Given the description of an element on the screen output the (x, y) to click on. 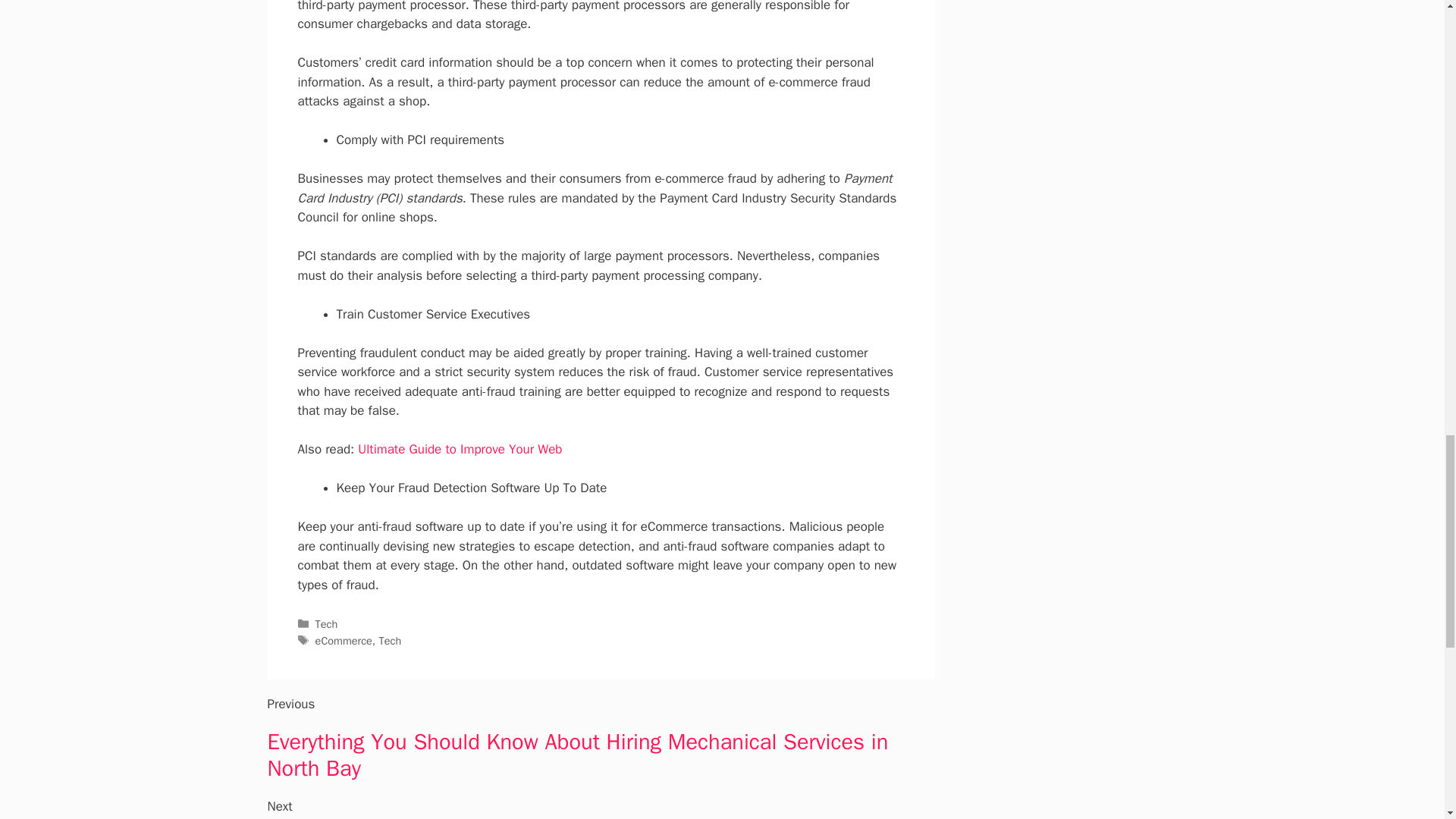
eCommerce (343, 640)
Tech (326, 623)
Tech (389, 640)
Ultimate Guide to Improve Your Web (460, 449)
